Given the description of an element on the screen output the (x, y) to click on. 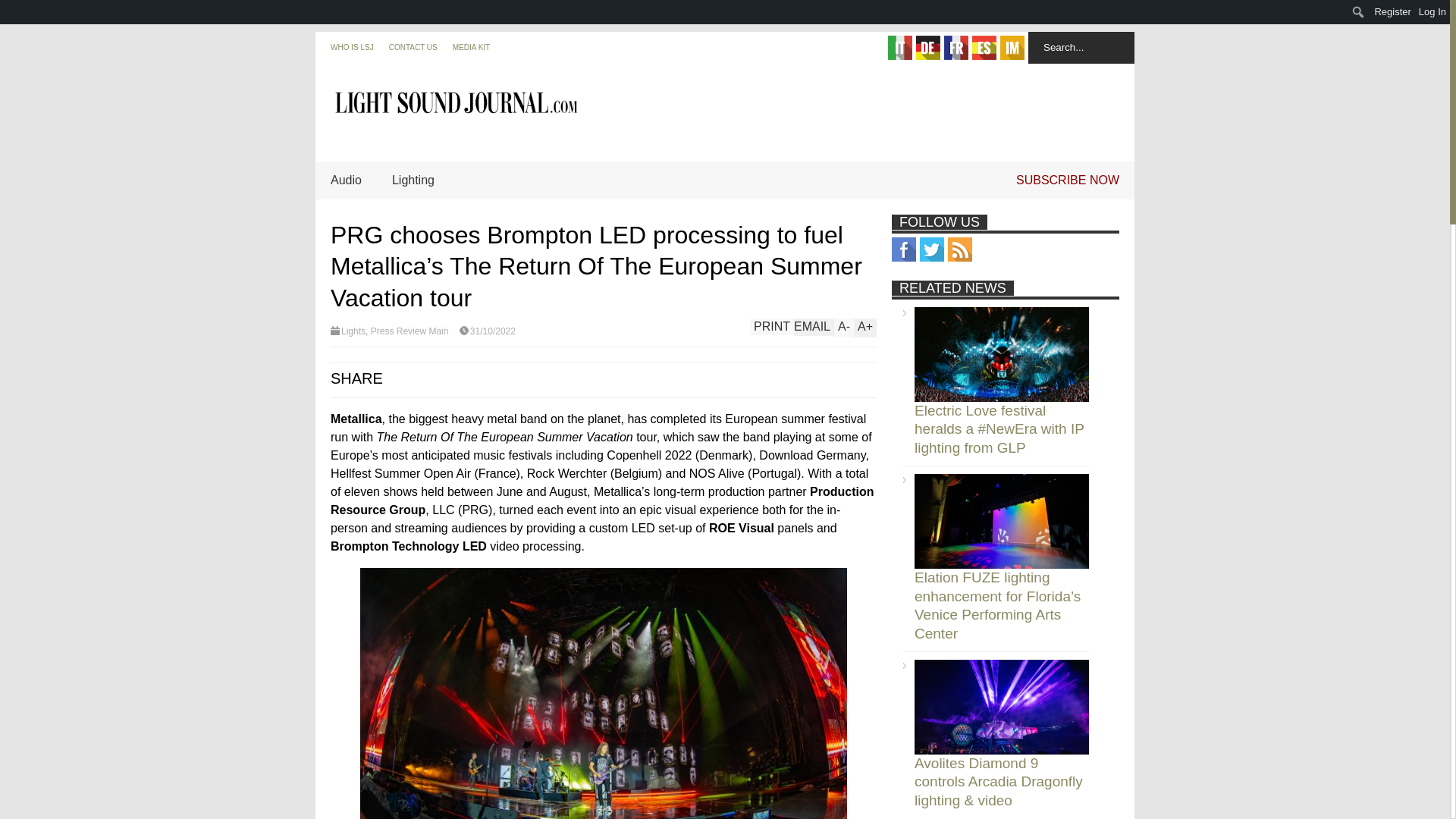
twitter (931, 249)
Lighting (413, 180)
feed (959, 249)
SUBSCRIBE NOW (1067, 180)
integrationmag (1012, 47)
facebook (903, 249)
it (900, 47)
CONTACT US (413, 47)
Click to read (1001, 521)
Audio (346, 180)
